Given the description of an element on the screen output the (x, y) to click on. 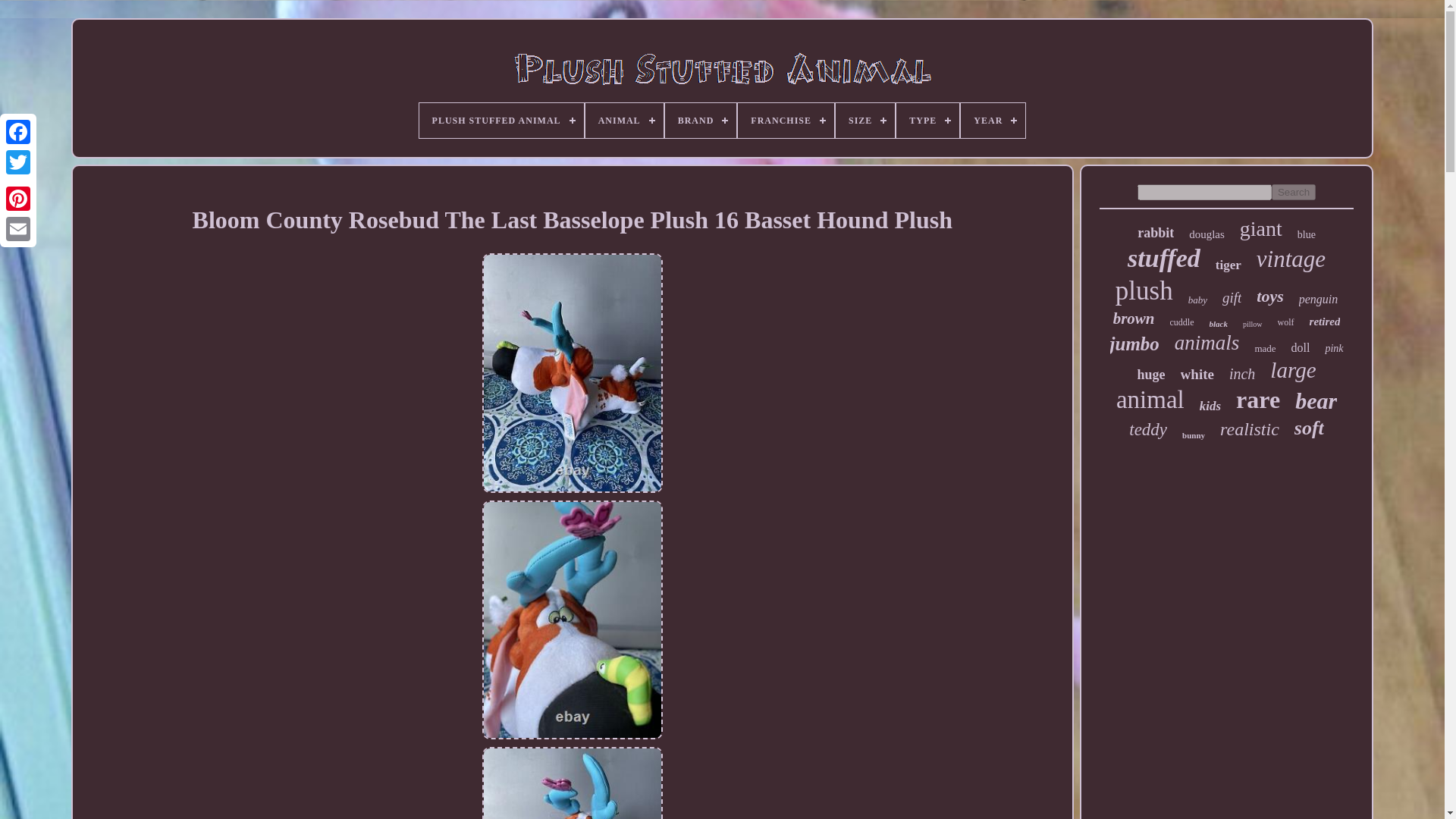
Search (1293, 191)
PLUSH STUFFED ANIMAL (501, 120)
BRAND (700, 120)
ANIMAL (624, 120)
